Given the description of an element on the screen output the (x, y) to click on. 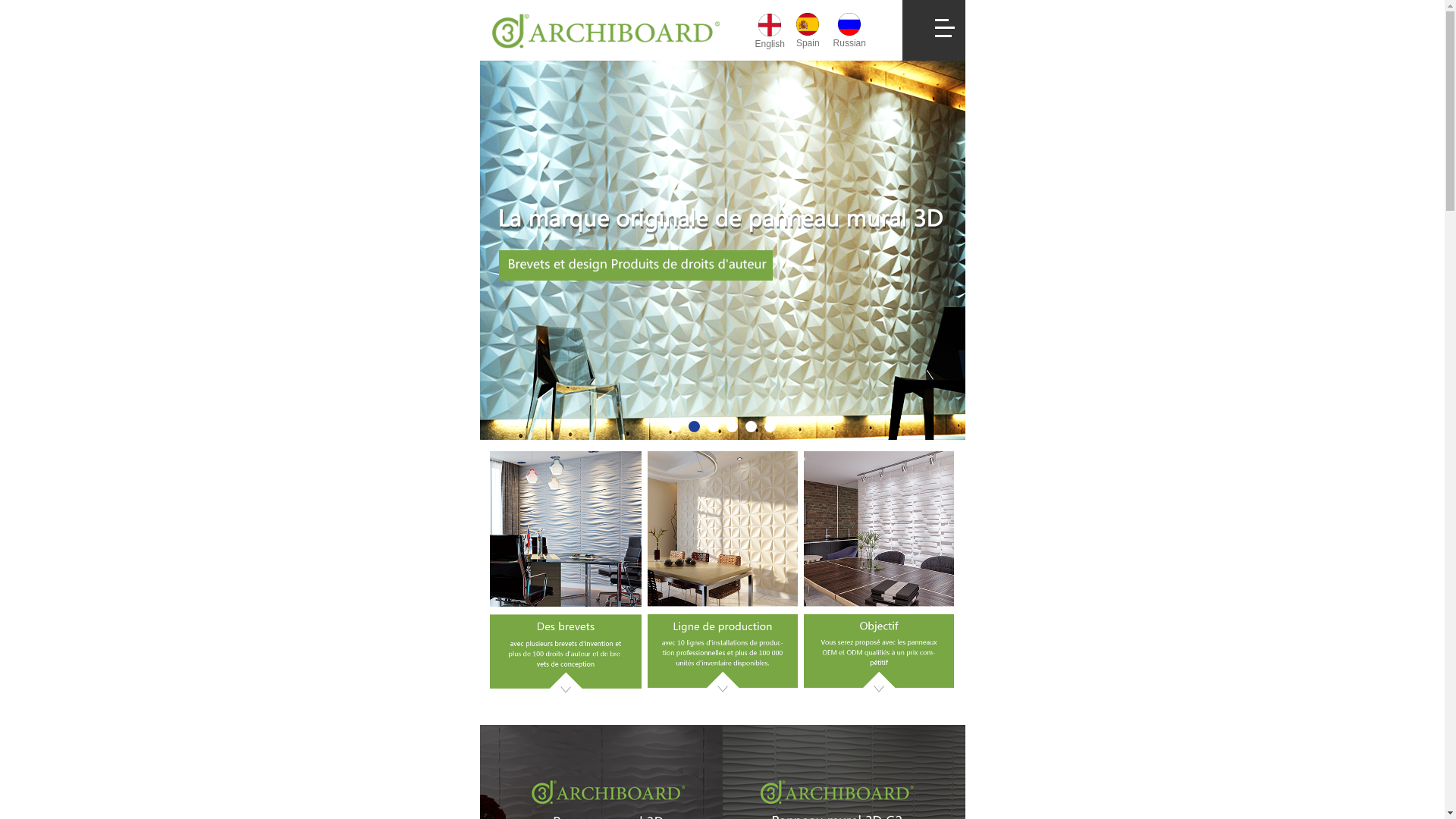
1 Element type: text (674, 426)
3 Element type: text (712, 426)
6 Element type: text (769, 426)
4 Element type: text (731, 426)
2 Element type: text (693, 426)
5 Element type: text (750, 426)
